Given the description of an element on the screen output the (x, y) to click on. 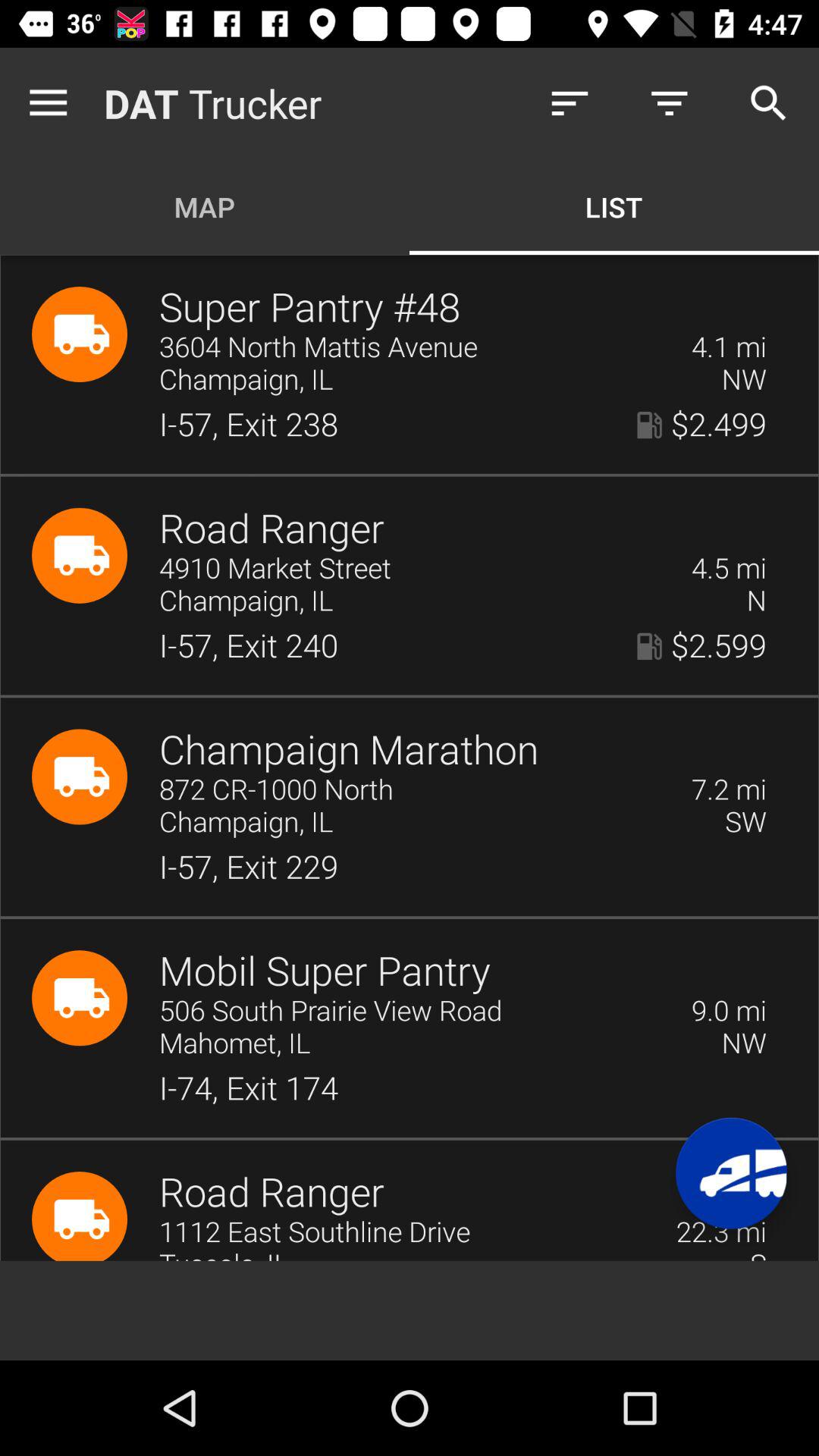
turn on the icon to the left of the 9.0 mi item (415, 1011)
